Given the description of an element on the screen output the (x, y) to click on. 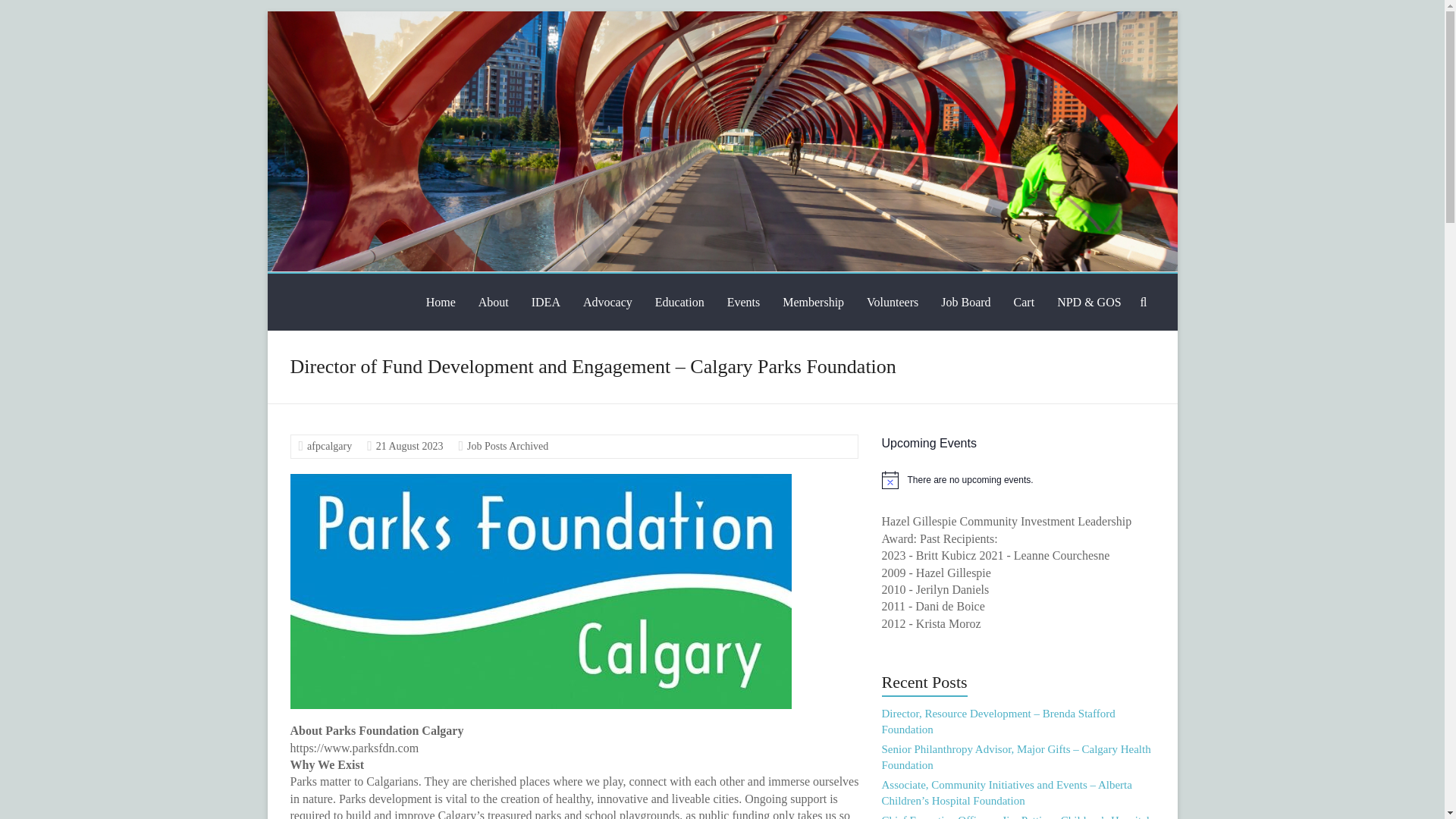
Home (440, 301)
Education (679, 301)
Job Board (965, 301)
About (493, 301)
Advocacy (607, 301)
3:31 pm (409, 446)
Volunteers (892, 301)
Membership (813, 301)
Events (743, 301)
IDEA (545, 301)
